Given the description of an element on the screen output the (x, y) to click on. 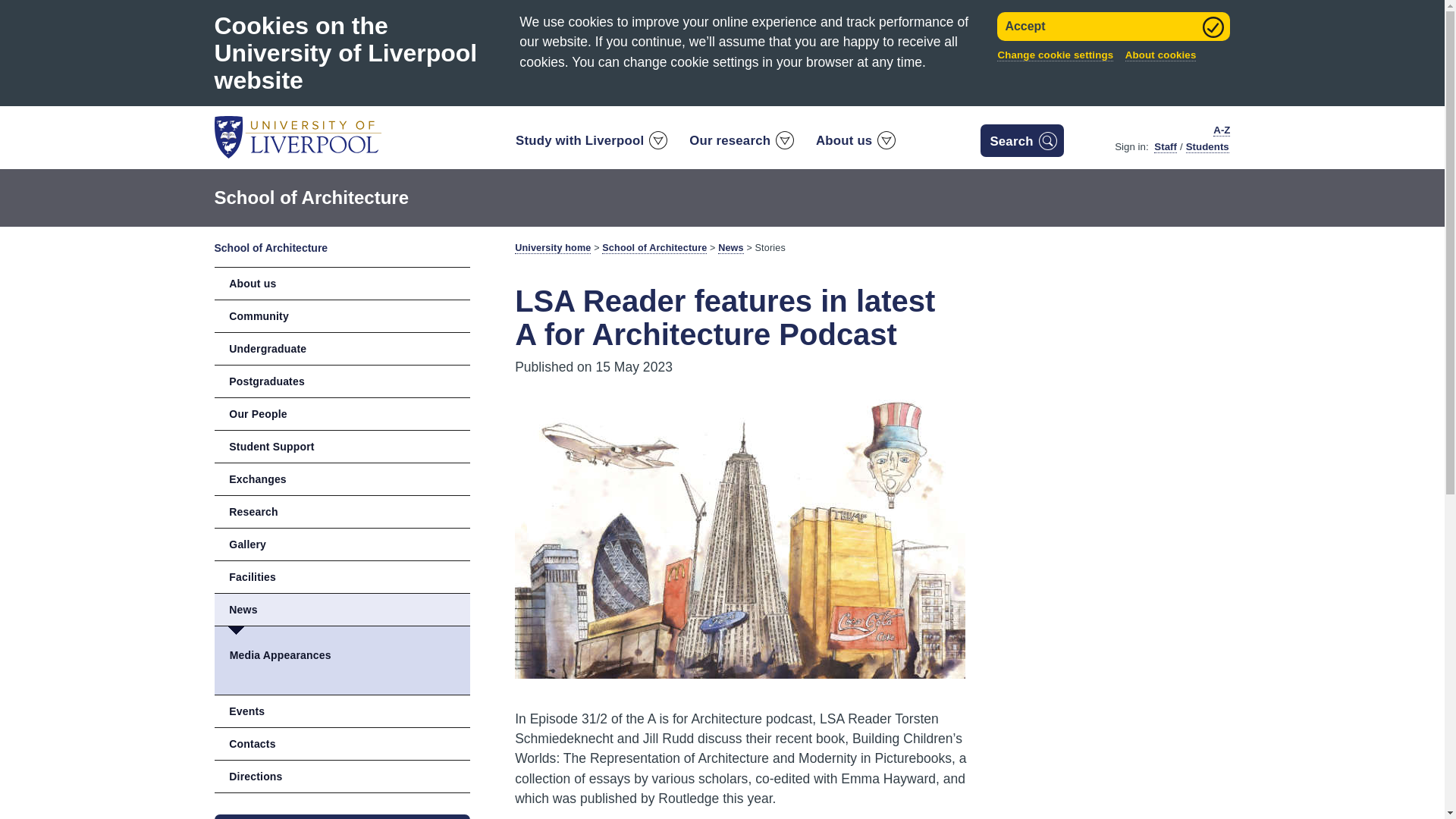
About cookies (1160, 55)
Accept (1113, 26)
Our research (740, 143)
University of Liverpool Home (297, 136)
Change cookie settings (1055, 55)
Accept (1113, 26)
About us (855, 143)
Study with Liverpool (590, 143)
